Given the description of an element on the screen output the (x, y) to click on. 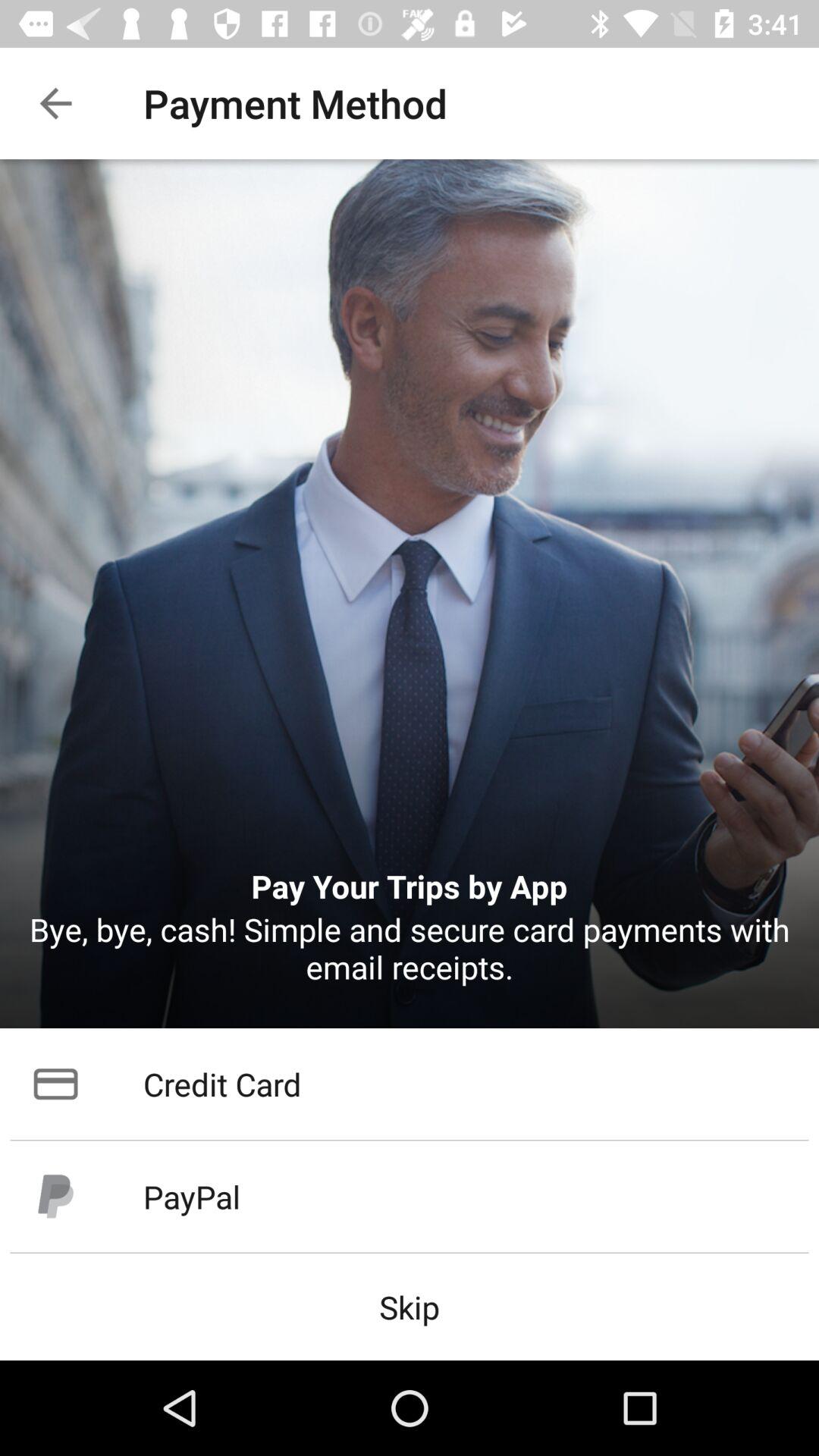
open the skip icon (409, 1306)
